Given the description of an element on the screen output the (x, y) to click on. 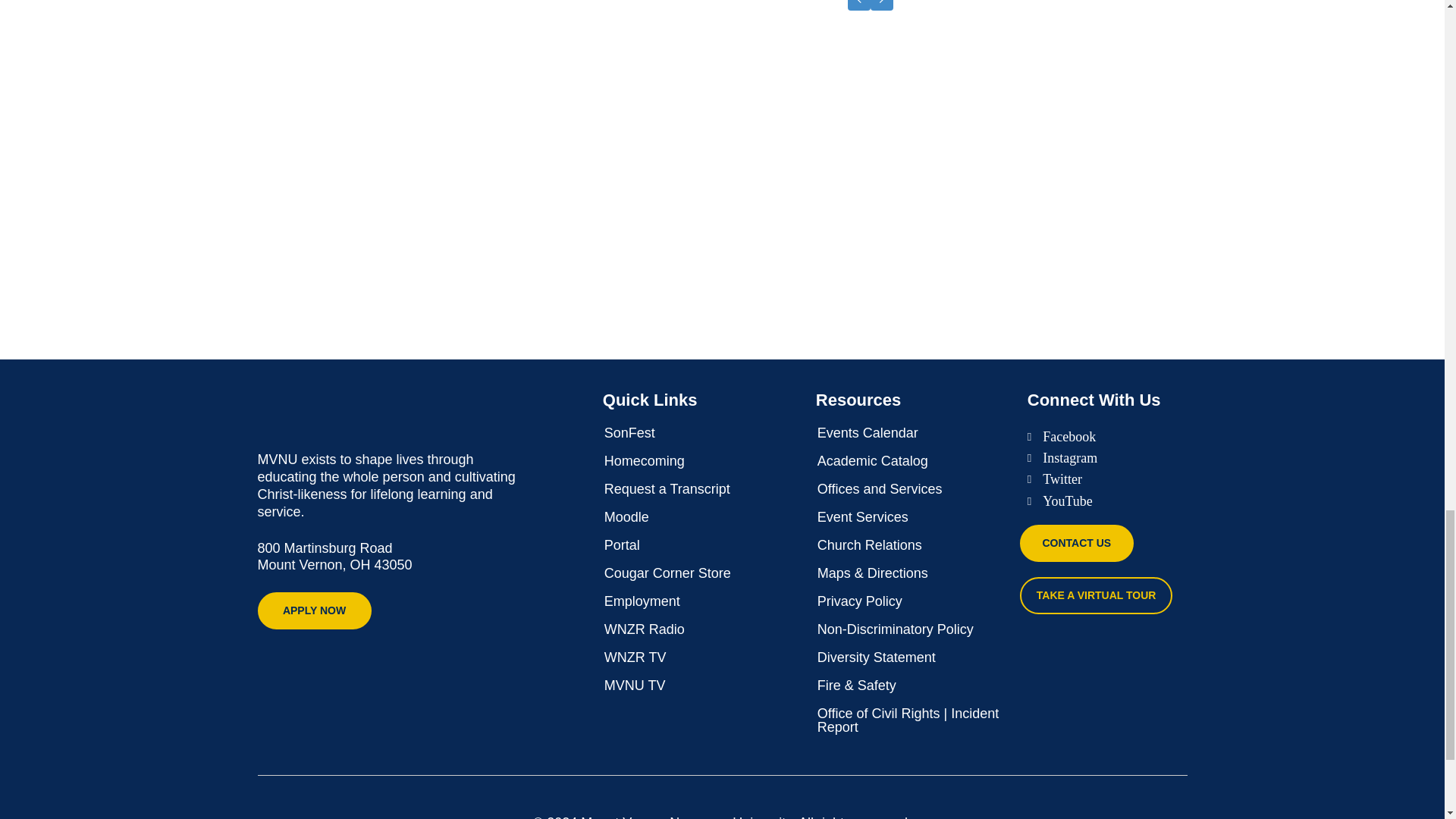
8 (740, 234)
SPUR Aug 31 2023-02 (611, 105)
10 (483, 105)
Bossley 0428-109 (740, 105)
9 (611, 234)
Bossley 0428-004 (869, 105)
SPUR Aug 31 2023-05 (1127, 105)
3 (1256, 105)
MVNU white logo (371, 408)
2 (998, 105)
6 (483, 234)
